Given the description of an element on the screen output the (x, y) to click on. 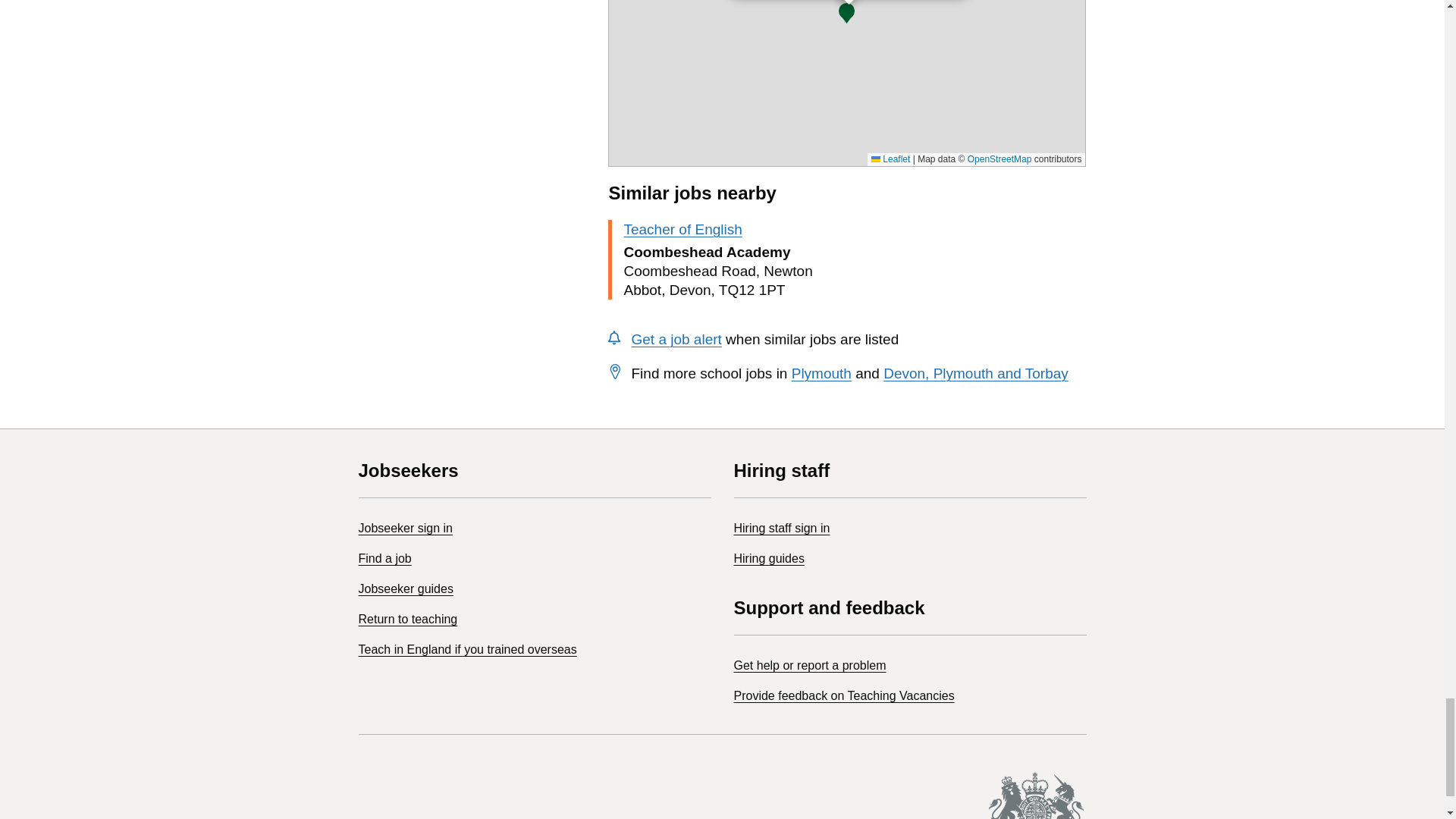
Leaflet (890, 158)
Jobseeker sign in (405, 527)
Return to teaching (407, 618)
OpenStreetMap (1000, 158)
Teacher of English (682, 229)
Get a job alert (675, 339)
Devon, Plymouth and Torbay (975, 373)
Teach in England if you trained overseas (467, 649)
A JavaScript library for interactive maps (890, 158)
Find a job (384, 558)
Plymouth (821, 373)
Jobseeker guides (405, 588)
